Given the description of an element on the screen output the (x, y) to click on. 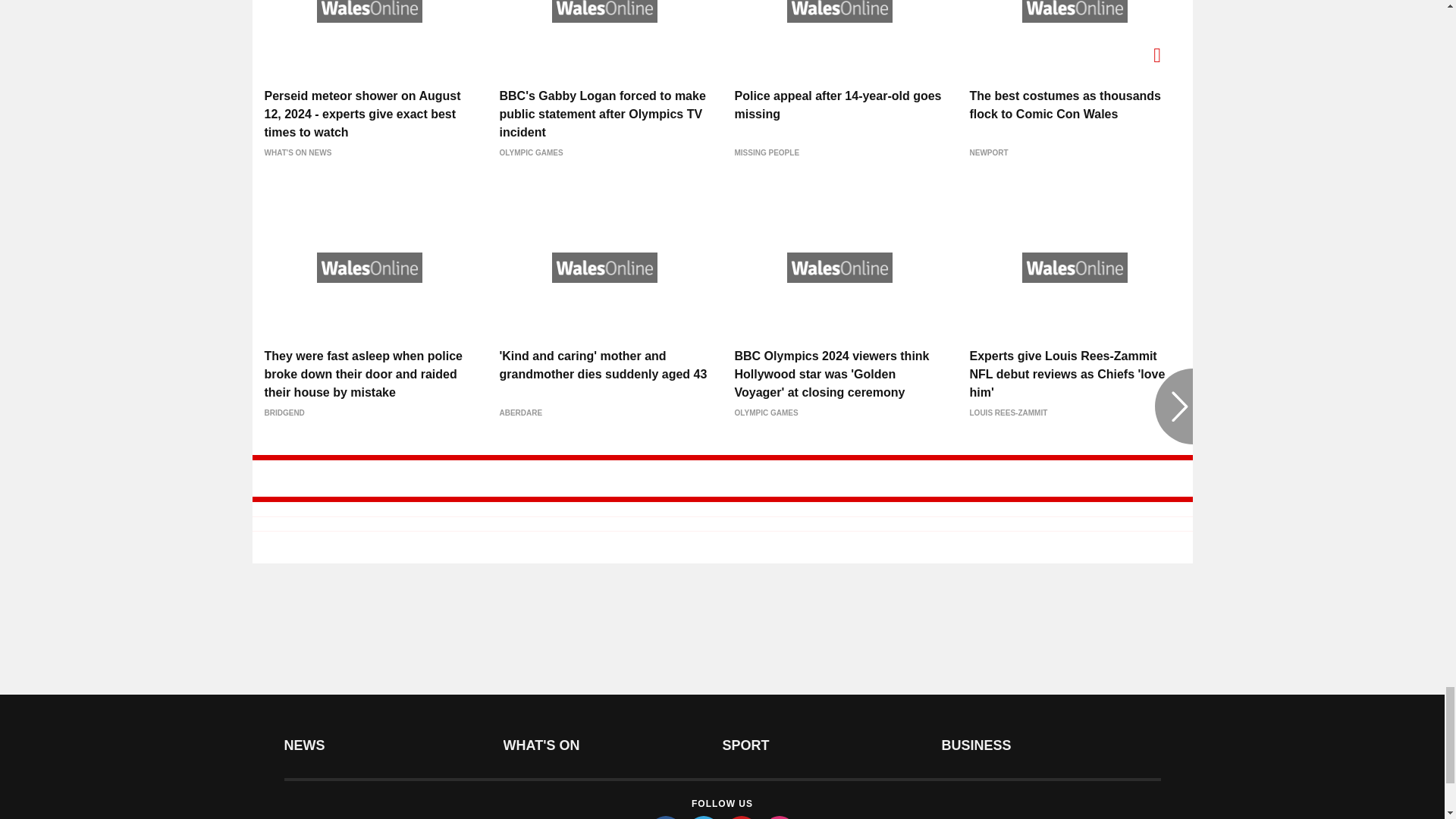
pinterest (741, 817)
instagram (779, 817)
facebook (665, 817)
twitter (703, 817)
